Given the description of an element on the screen output the (x, y) to click on. 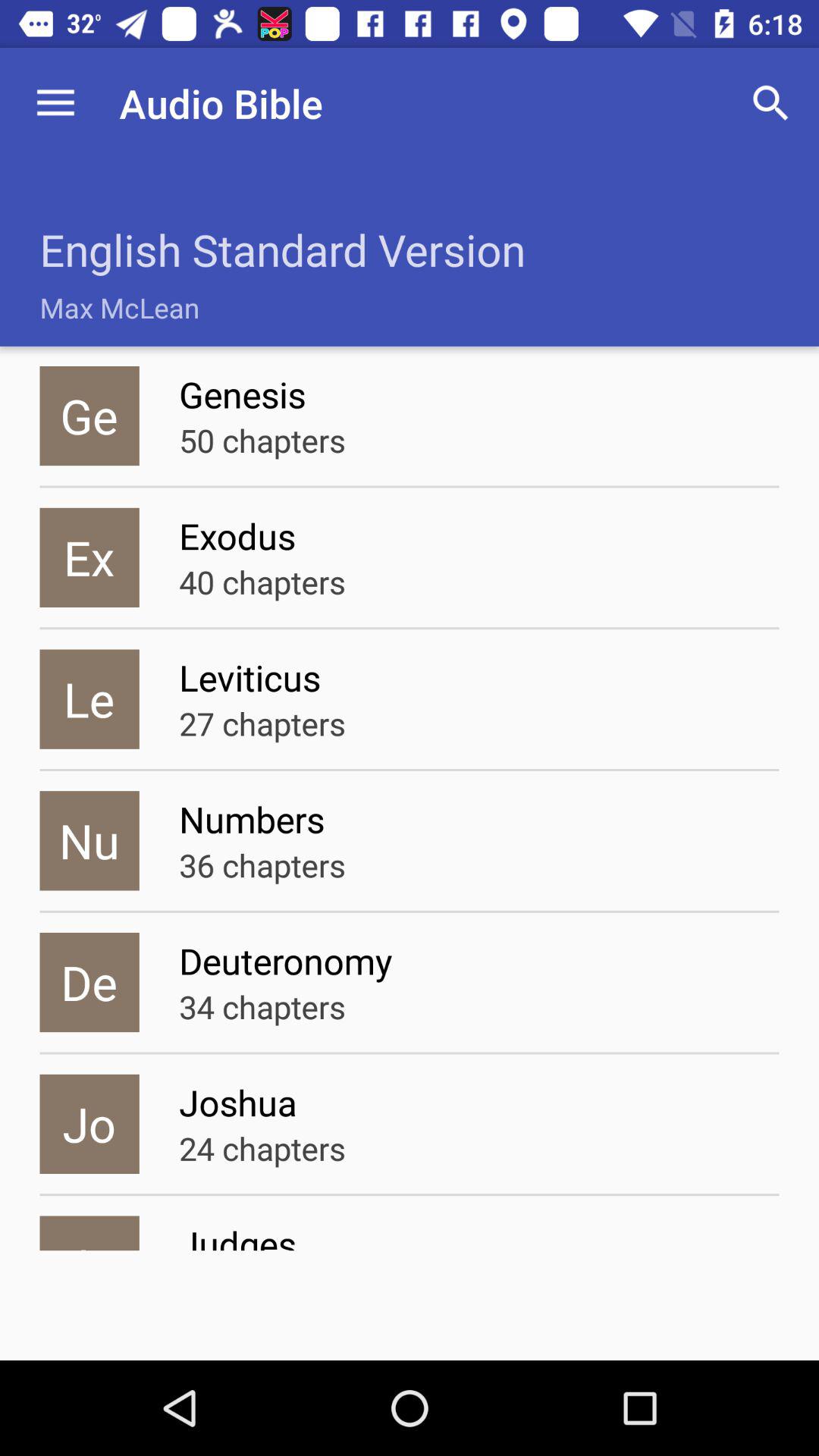
flip to nu icon (89, 840)
